Given the description of an element on the screen output the (x, y) to click on. 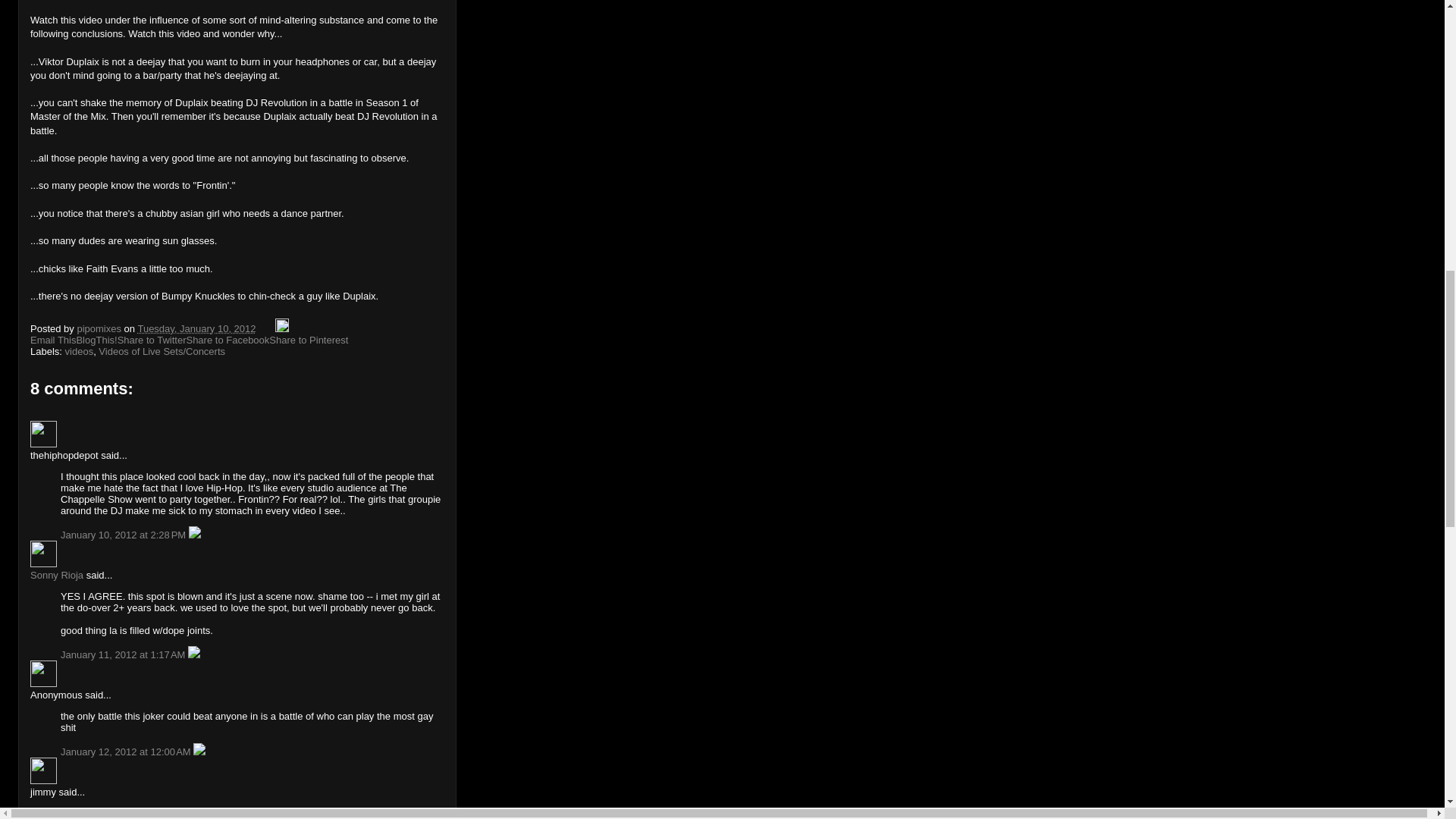
permanent link (196, 328)
pipomixes (100, 328)
Email This (52, 339)
Share to Pinterest (308, 339)
Share to Twitter (151, 339)
BlogThis! (95, 339)
Share to Twitter (151, 339)
